Given the description of an element on the screen output the (x, y) to click on. 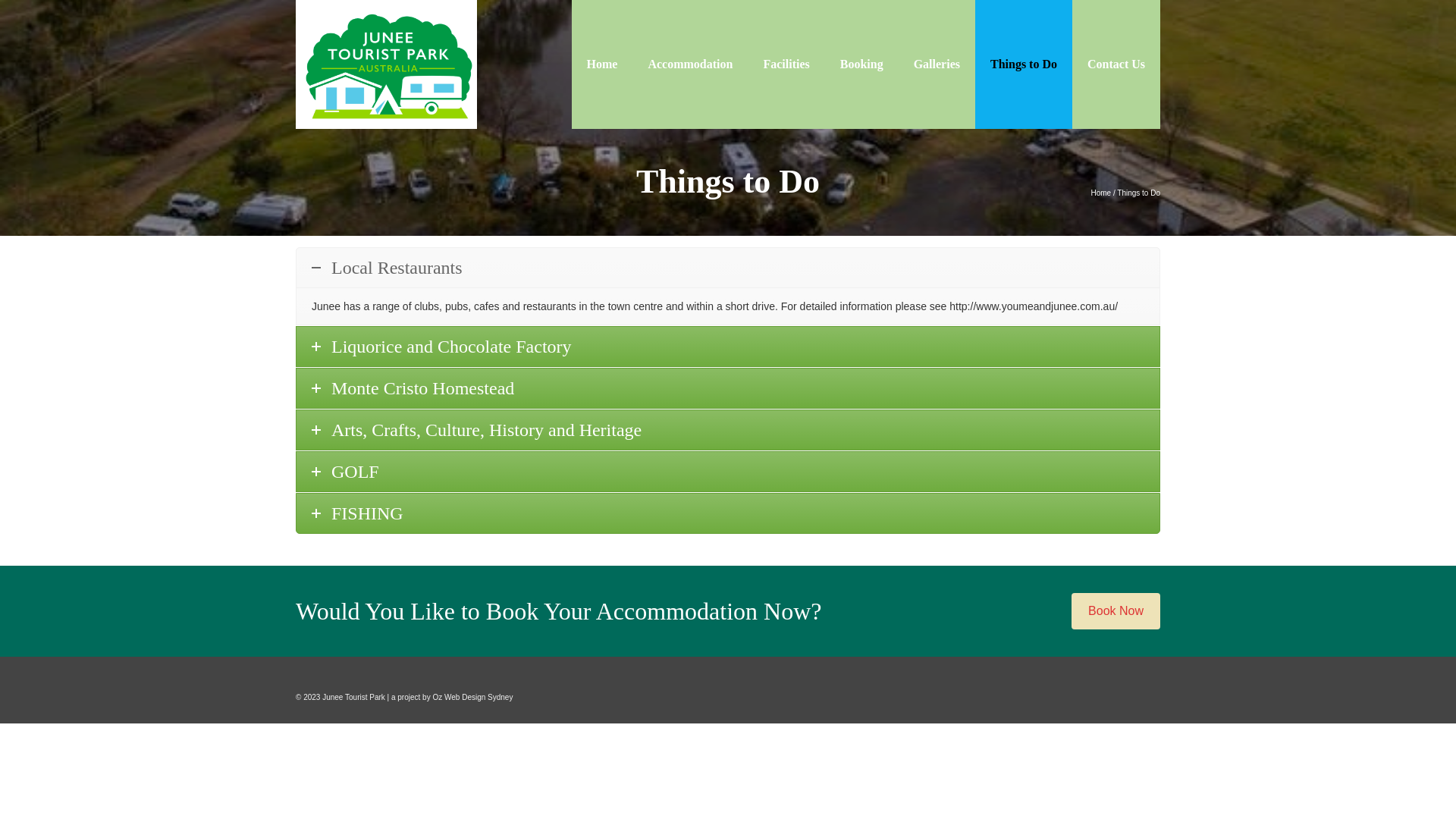
Book Now Element type: text (1115, 611)
Things to Do Element type: text (1023, 64)
Facilities Element type: text (785, 64)
Contact Us Element type: text (1116, 64)
Liquorice and Chocolate Factory Element type: text (727, 346)
Monte Cristo Homestead Element type: text (727, 387)
Home Element type: text (602, 64)
FISHING Element type: text (727, 513)
Arts, Crafts, Culture, History and Heritage Element type: text (727, 429)
Galleries Element type: text (936, 64)
Oz Web Design Sydney Element type: text (472, 697)
Home Element type: text (1100, 192)
Booking Element type: text (861, 64)
Accommodation Element type: text (689, 64)
GOLF Element type: text (727, 471)
Local Restaurants Element type: text (727, 267)
